Given the description of an element on the screen output the (x, y) to click on. 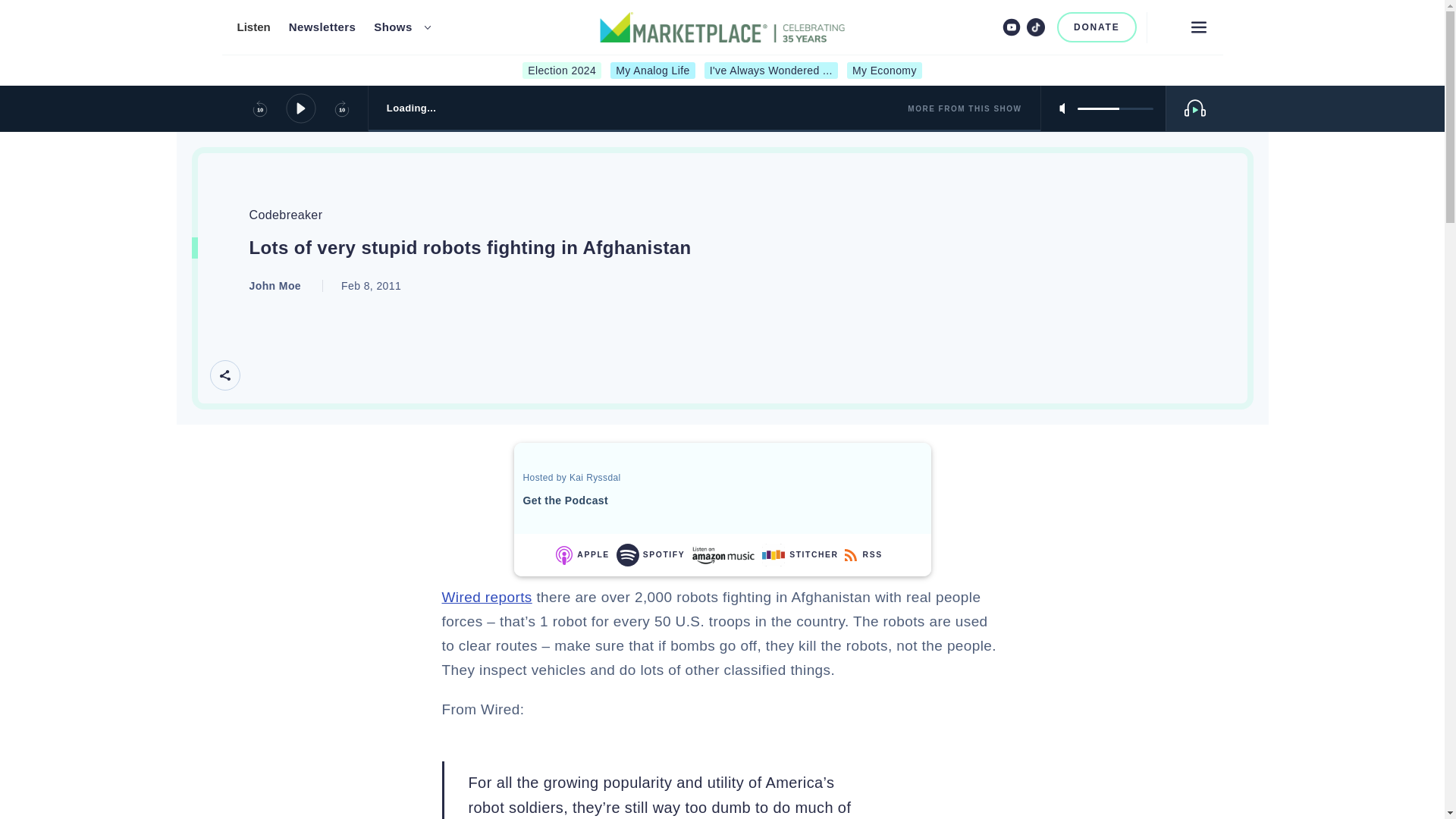
Menu (1198, 27)
Listen (252, 26)
volume (1115, 108)
5 (1115, 108)
Youtube (1011, 27)
Search (1164, 27)
DONATE (1097, 27)
Facebook (962, 27)
Shows (393, 26)
Newsletters (322, 27)
TikTok (1035, 27)
Instagram (985, 27)
